Given the description of an element on the screen output the (x, y) to click on. 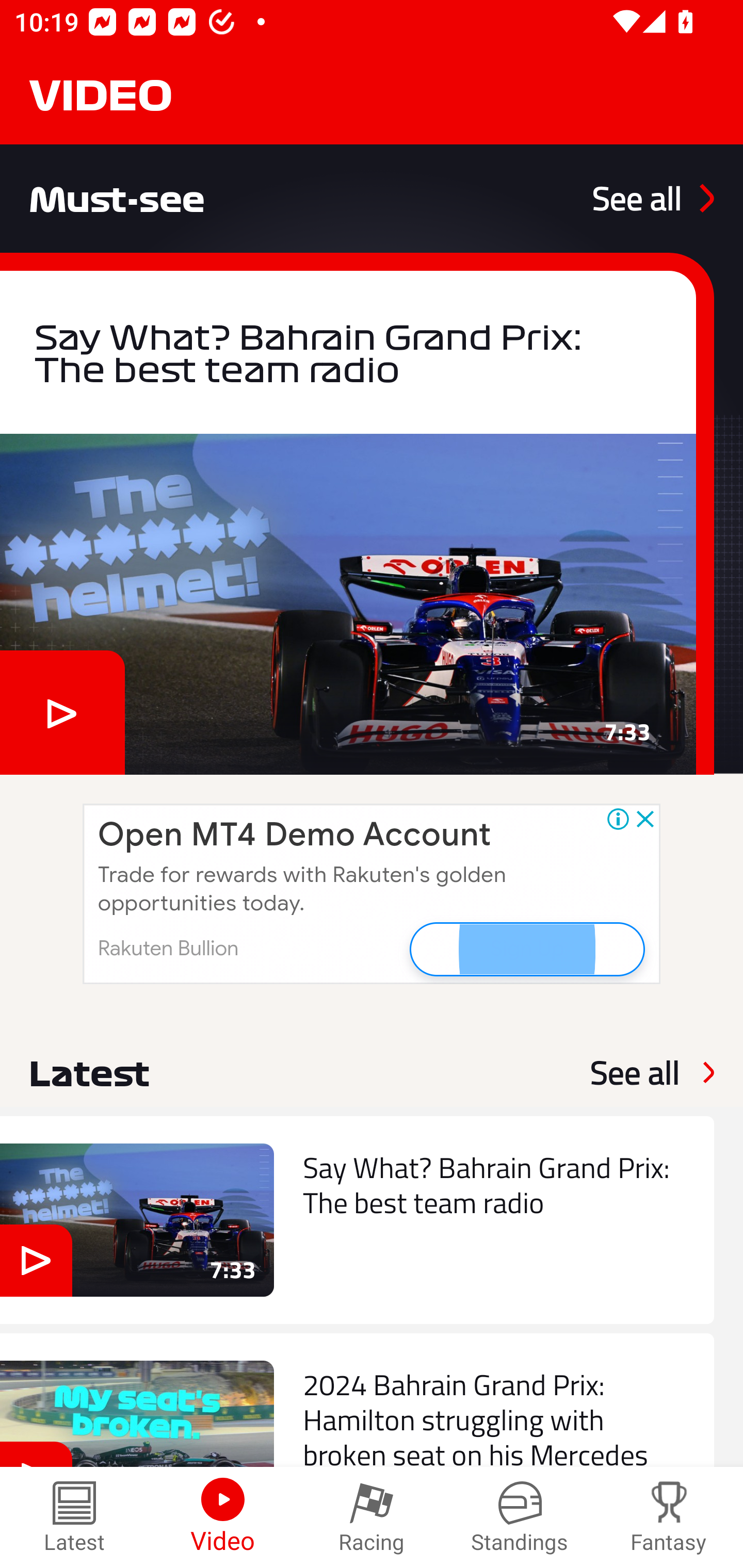
See all (653, 198)
Open MT4 Demo Account (294, 834)
Sign Up (526, 948)
Rakuten Bullion (168, 948)
See all (634, 1072)
Latest (74, 1517)
Racing (371, 1517)
Standings (519, 1517)
Fantasy (668, 1517)
